Given the description of an element on the screen output the (x, y) to click on. 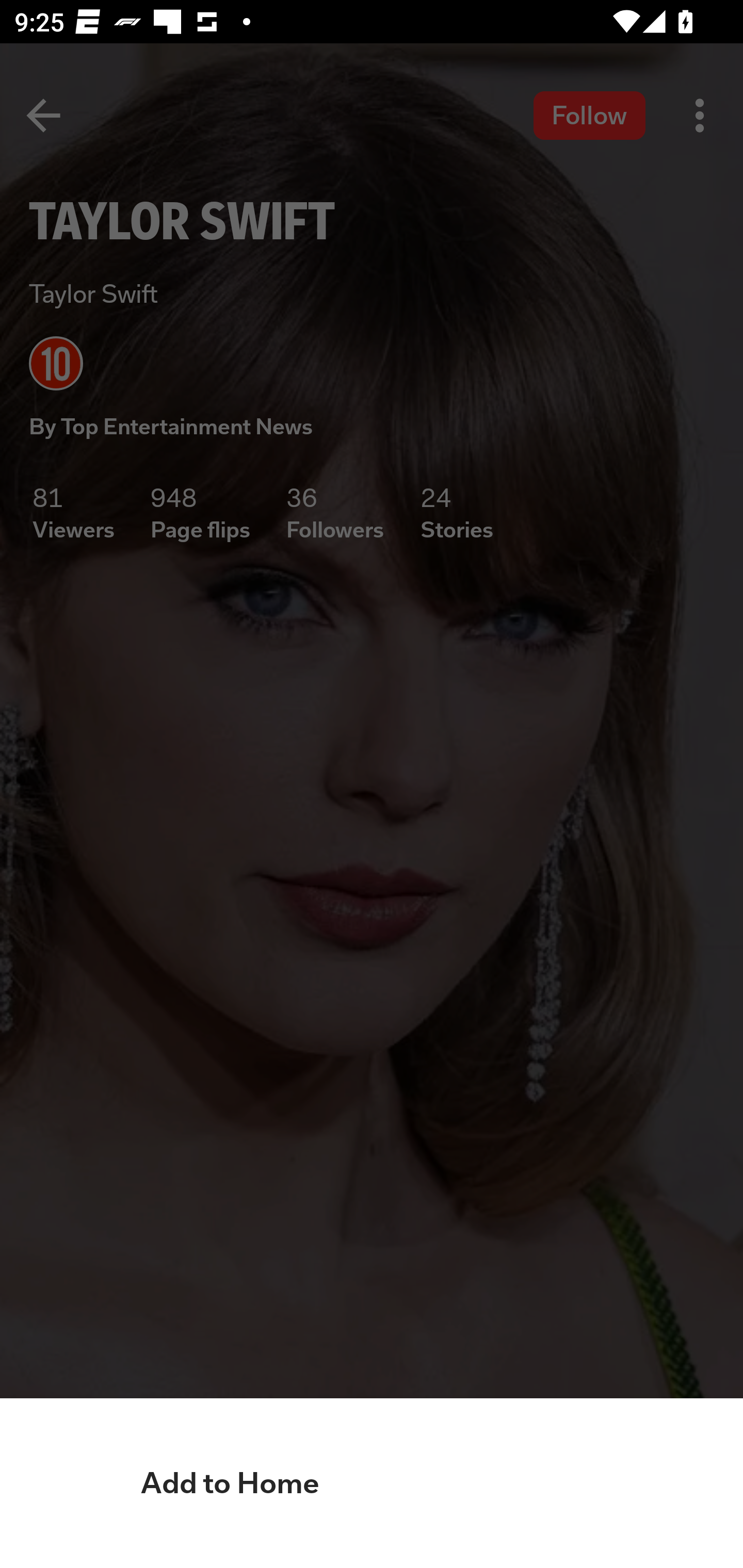
Add to Home (371, 1482)
